Given the description of an element on the screen output the (x, y) to click on. 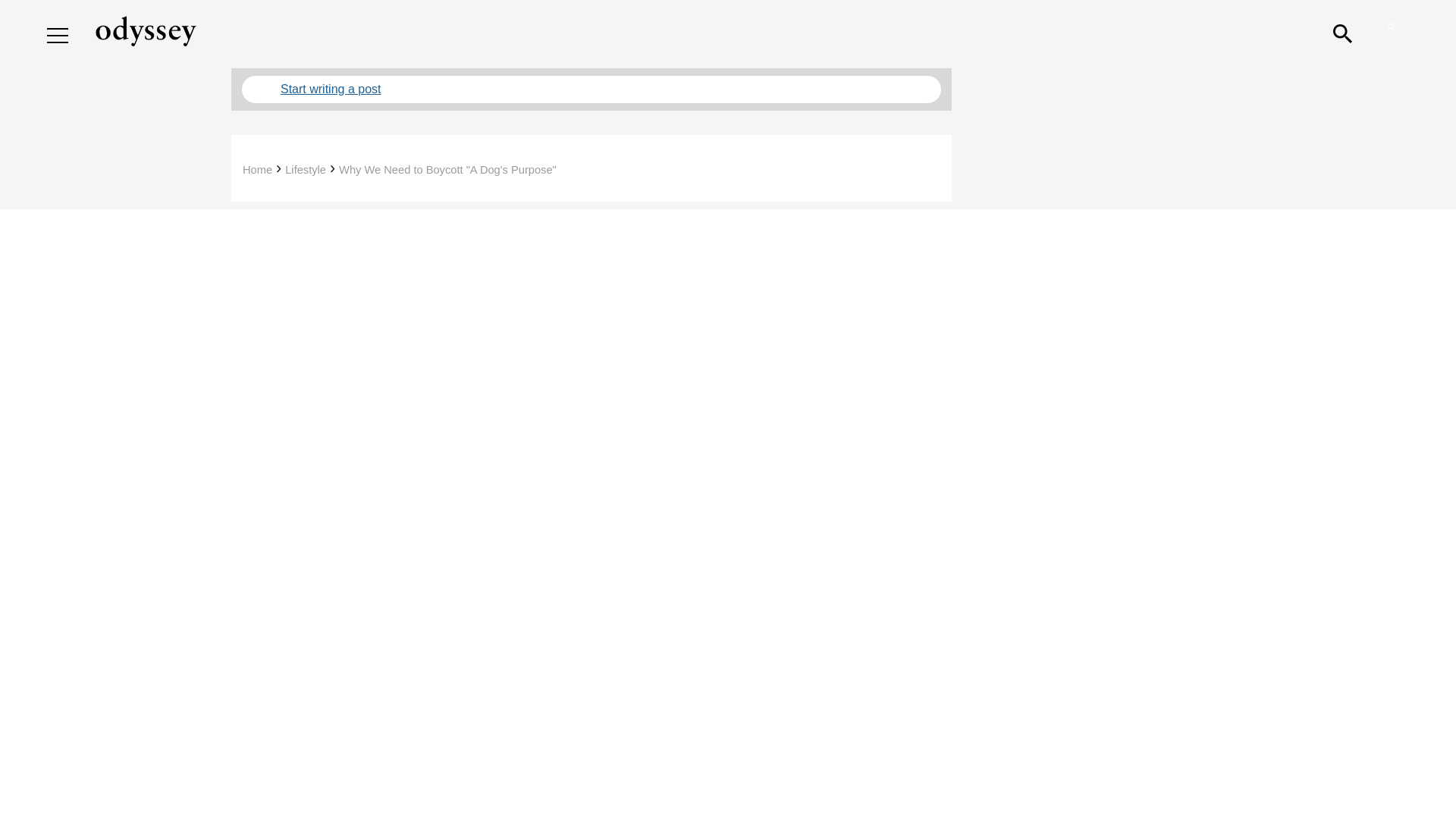
Start writing a post (590, 89)
Lifestyle (305, 169)
Home (257, 169)
Why We Need to Boycott "A Dog's Purpose" (447, 169)
